Given the description of an element on the screen output the (x, y) to click on. 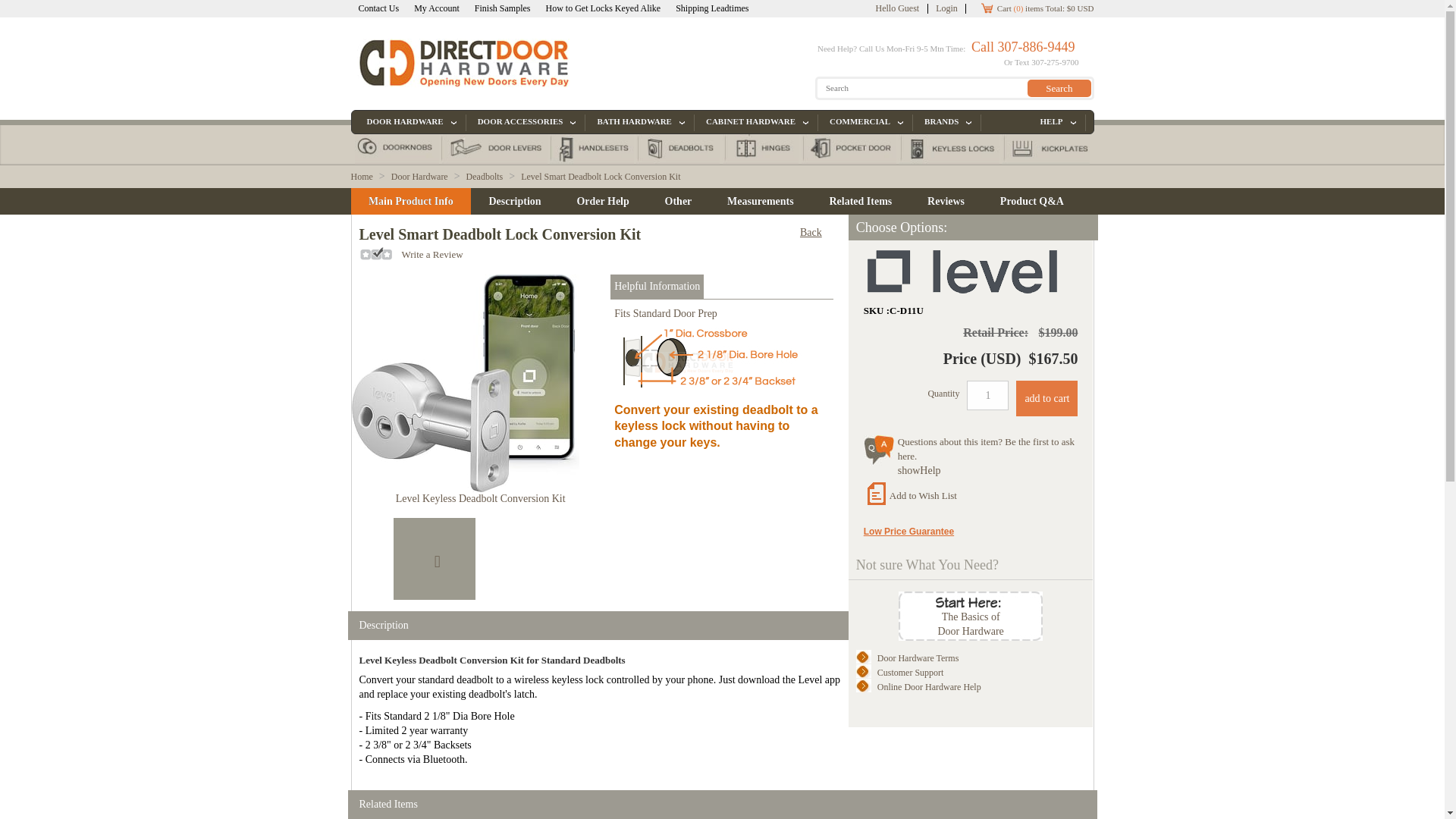
1 (987, 395)
Finish Samples (502, 8)
Search (1058, 88)
Login (946, 8)
How to Get Locks Keyed Alike (603, 8)
Level Keyless Deadbolt Conversion Kit  (481, 383)
My Account (436, 8)
DOOR HARDWARE (410, 121)
Level Keyless Deadbolt Conversion Kit  (481, 499)
Shipping Leadtimes (711, 8)
